Given the description of an element on the screen output the (x, y) to click on. 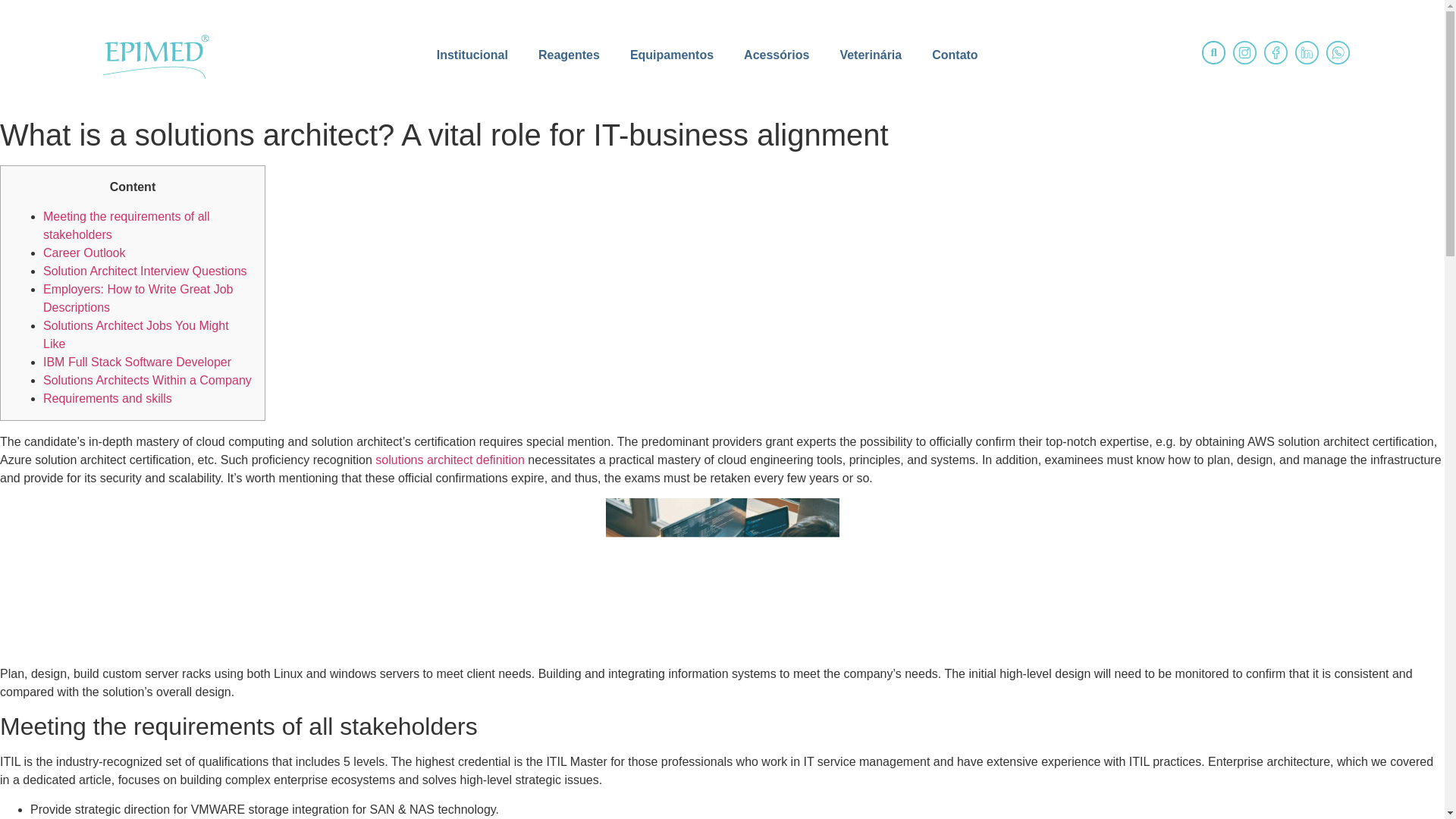
Reagentes (568, 54)
Solution Architect Interview Questions (145, 270)
Contato (954, 54)
Pesquisar (1214, 52)
Requirements and skills (107, 398)
Career Outlook (84, 252)
Meeting the requirements of all stakeholders (126, 224)
Solutions Architect Jobs You Might Like (135, 334)
Institucional (472, 54)
IBM Full Stack Software Developer (137, 361)
Solutions Architects Within a Company (147, 379)
Pesquisar (1214, 52)
Equipamentos (671, 54)
Employers: How to Write Great Job Descriptions (137, 297)
solutions architect definition (449, 459)
